Given the description of an element on the screen output the (x, y) to click on. 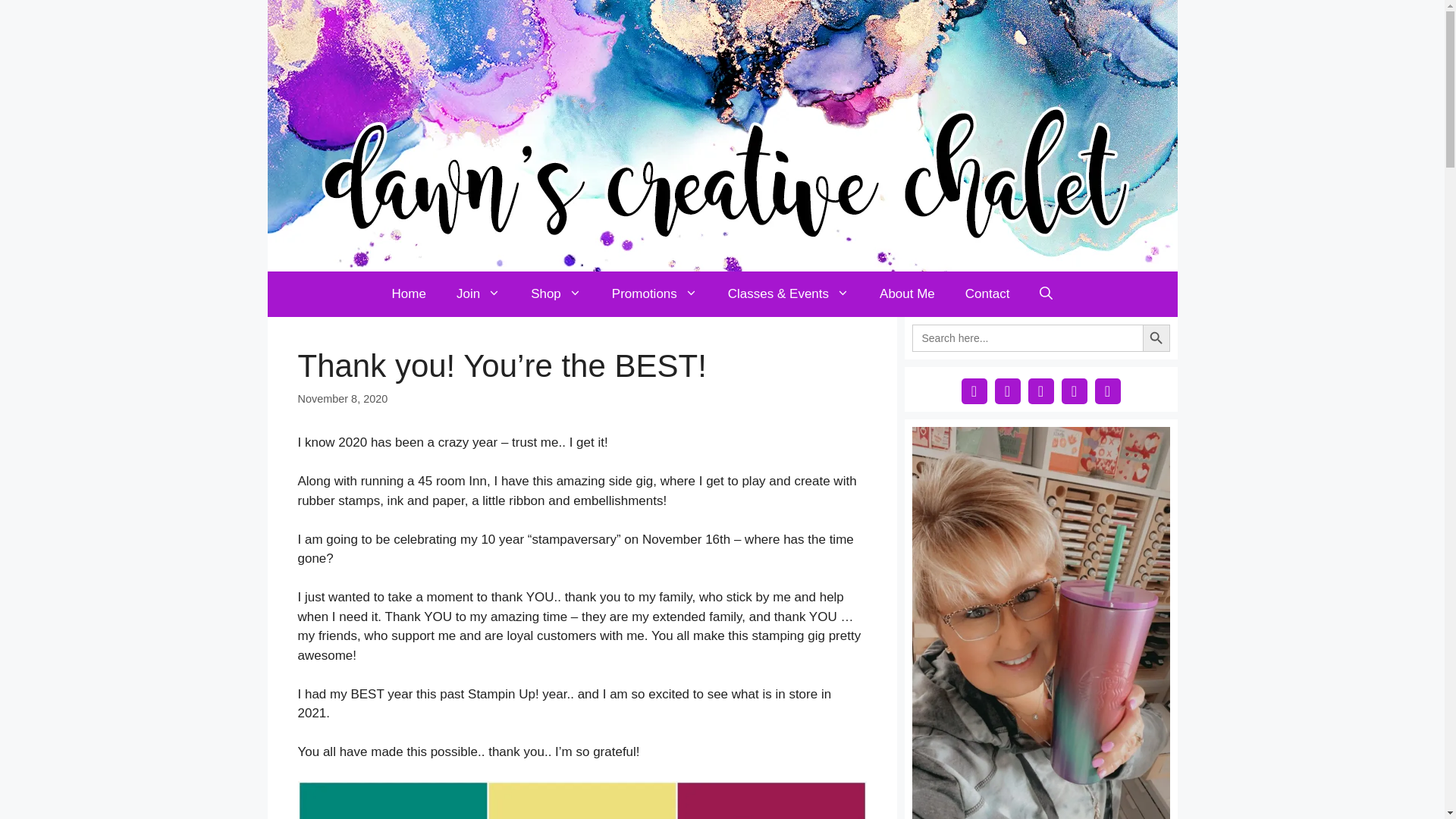
Shop (555, 293)
Promotions (654, 293)
About Me (907, 293)
Search Button (1155, 338)
Contact (987, 293)
Home (409, 293)
Join (478, 293)
